Given the description of an element on the screen output the (x, y) to click on. 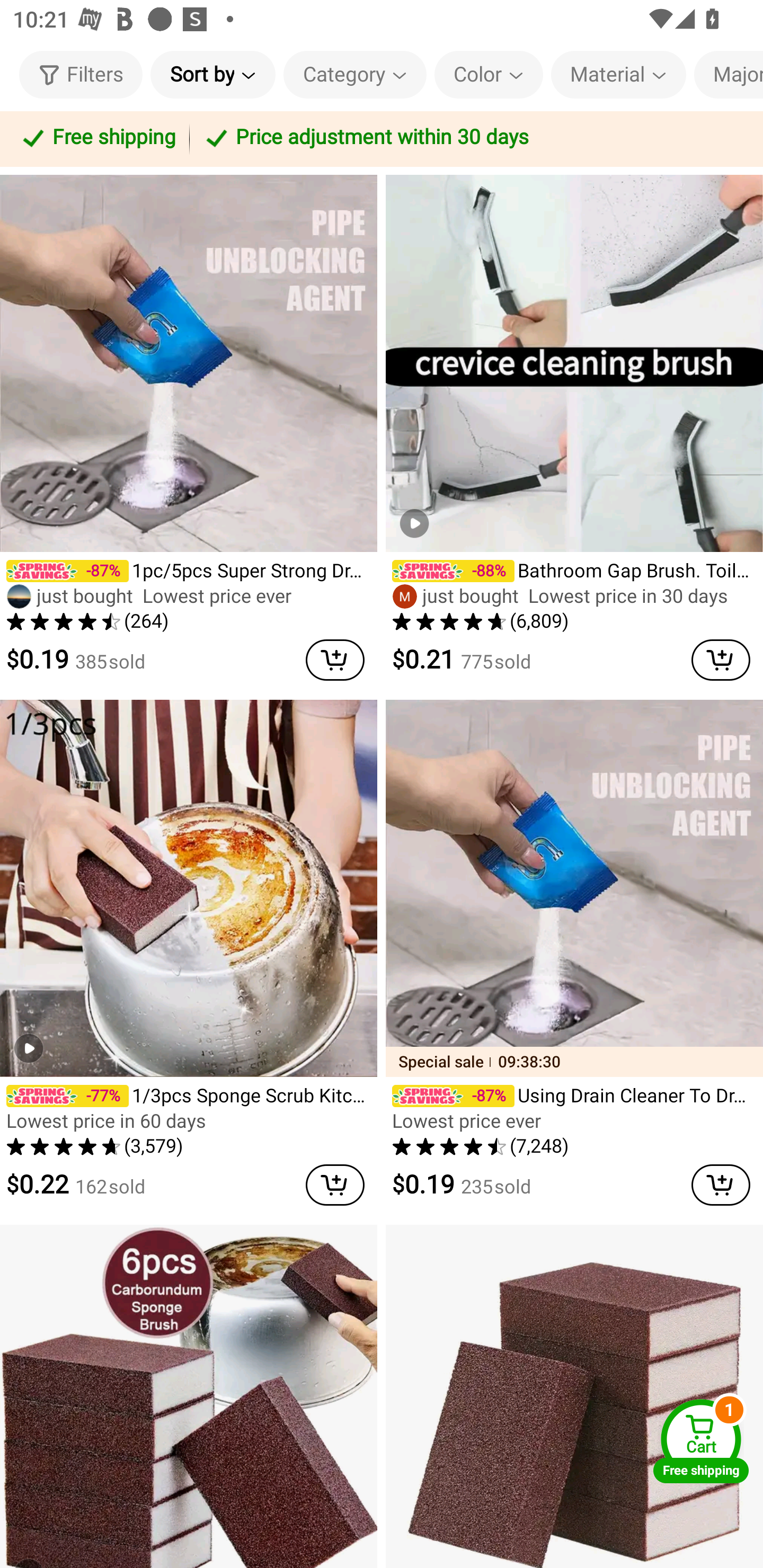
Filters (80, 74)
Sort by (212, 74)
Category (354, 74)
Color (488, 74)
Material (617, 74)
Major Material (728, 74)
Free shipping (97, 138)
Price adjustment within 30 days (472, 138)
cart delete (334, 659)
cart delete (720, 659)
cart delete (334, 1185)
cart delete (720, 1185)
Cart Free shipping Cart (701, 1440)
